Given the description of an element on the screen output the (x, y) to click on. 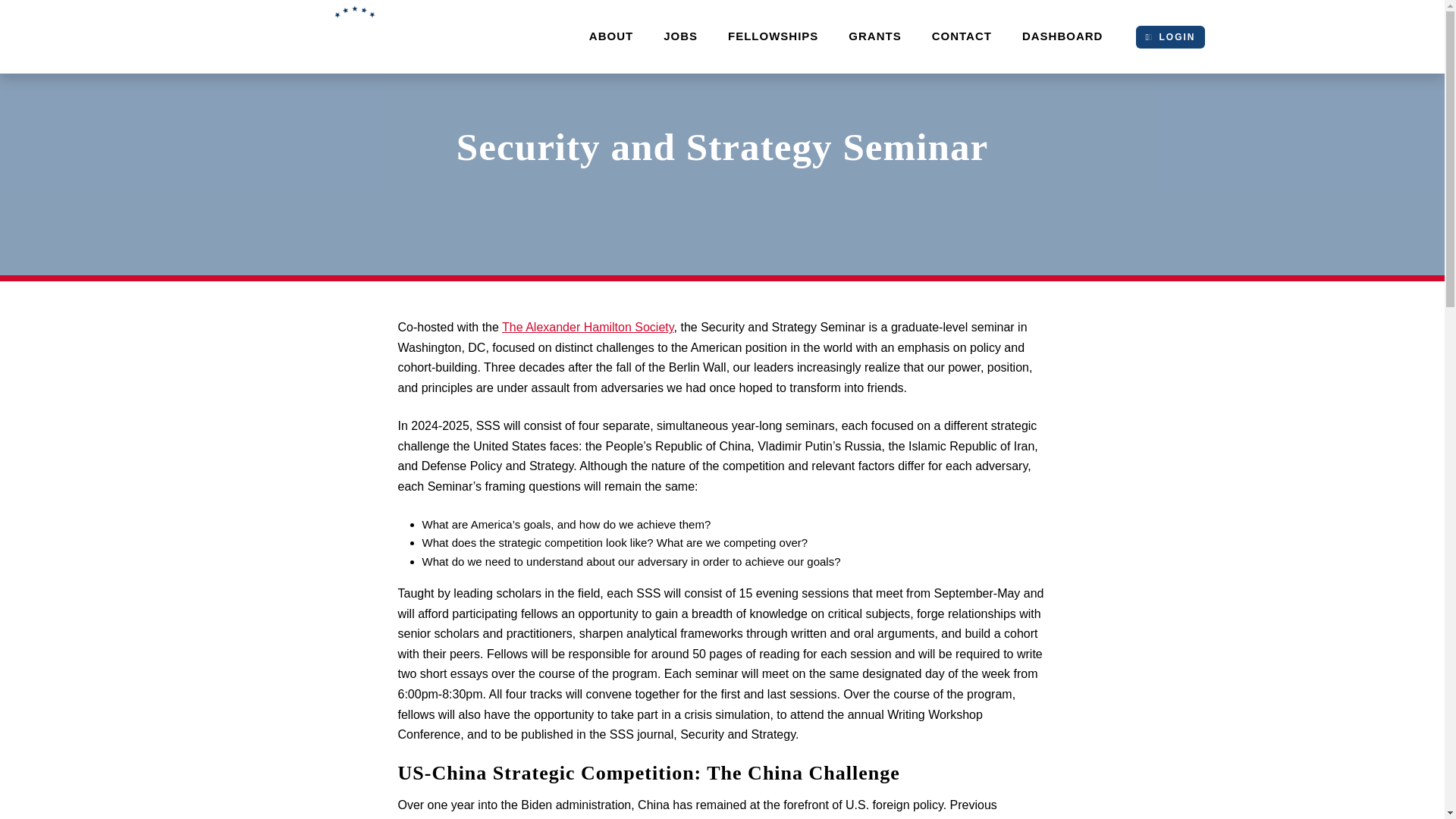
LOGIN (1169, 36)
DASHBOARD (1062, 36)
CONTACT (962, 36)
ABOUT (610, 36)
JOBS (680, 36)
The Alexander Hamilton Society (587, 327)
FELLOWSHIPS (772, 36)
GRANTS (873, 36)
